Given the description of an element on the screen output the (x, y) to click on. 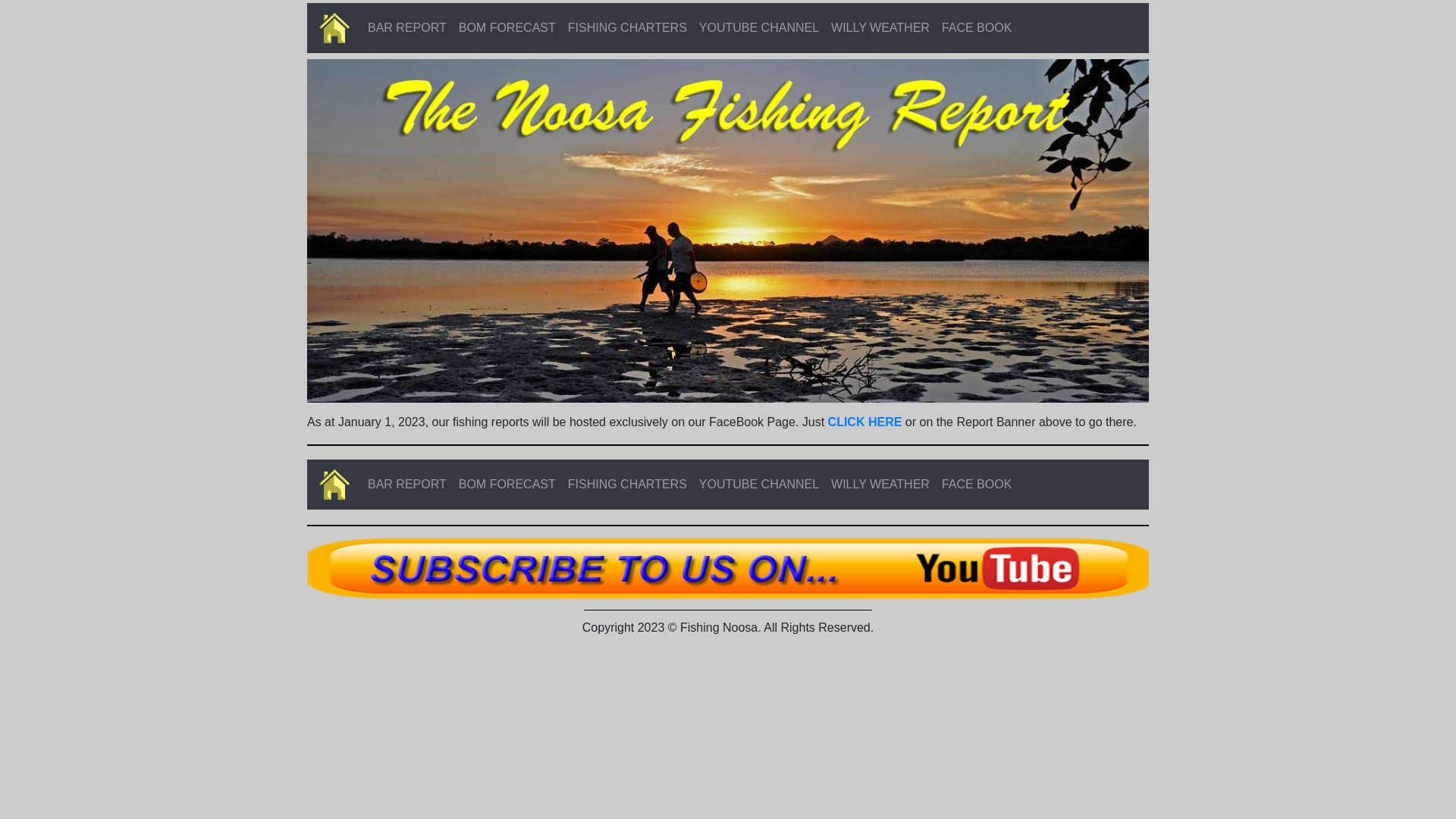
BOM FORECAST Element type: text (506, 27)
CLICK HERE Element type: text (865, 421)
Fishing Noosa Home Page Element type: hover (334, 27)
The Noosa Fishing Report Element type: hover (727, 230)
YOUTUBE CHANNEL Element type: text (759, 27)
WILLY WEATHER Element type: text (880, 484)
WILLY WEATHER Element type: text (880, 27)
BAR REPORT Element type: text (406, 484)
BAR REPORT Element type: text (406, 27)
BOM FORECAST Element type: text (506, 484)
FISHING CHARTERS Element type: text (627, 484)
FACE BOOK Element type: text (976, 484)
YOUTUBE CHANNEL Element type: text (759, 484)
Fishing Noosa Home Page Element type: hover (334, 484)
FISHING CHARTERS Element type: text (627, 27)
FACE BOOK Element type: text (976, 27)
